Given the description of an element on the screen output the (x, y) to click on. 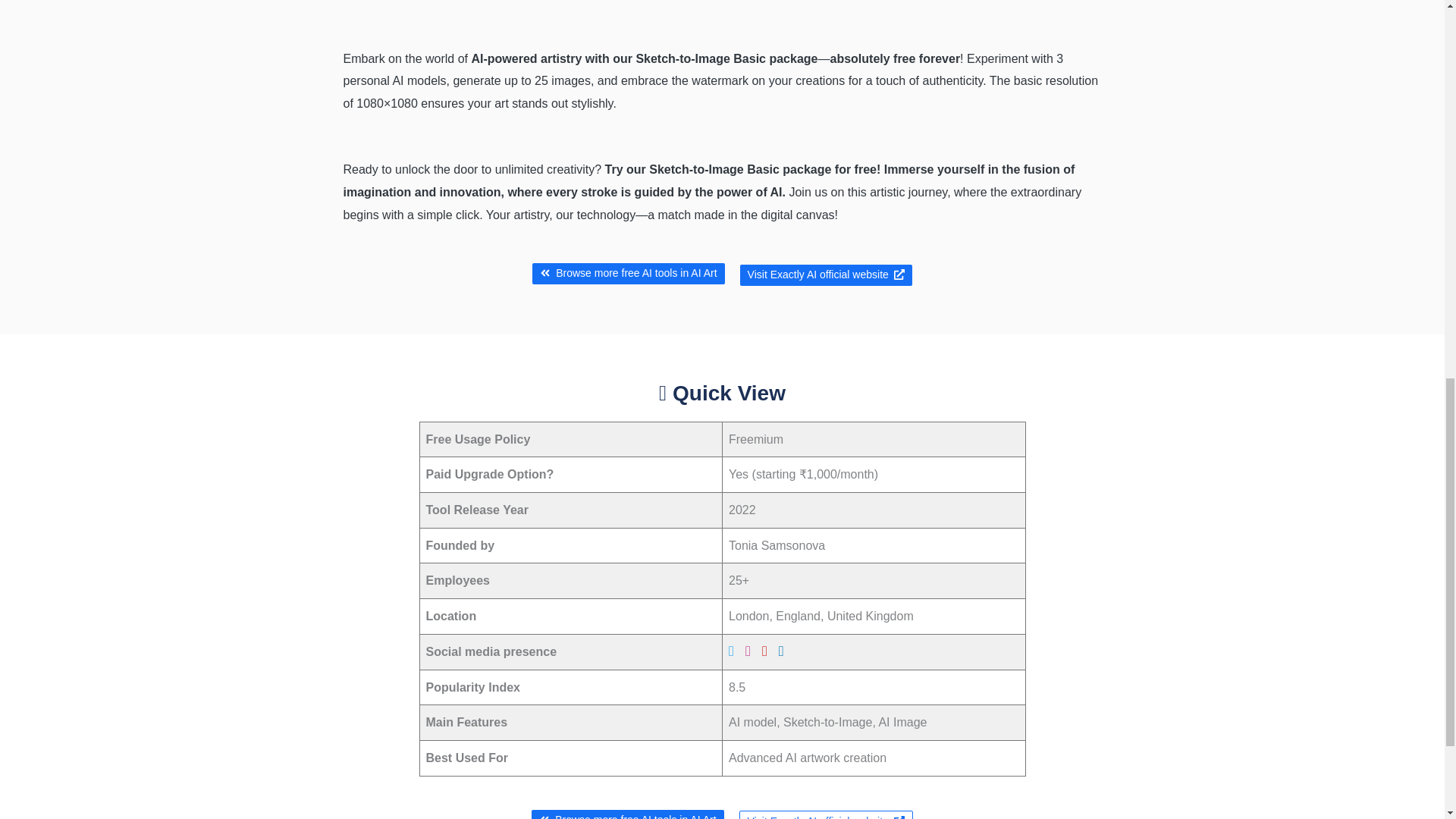
Browse more free AI tools in AI Art (627, 814)
Visit Exactly AI official website (825, 274)
Browse more free AI tools in AI Art (627, 273)
Visit Exactly AI official website (825, 814)
